Given the description of an element on the screen output the (x, y) to click on. 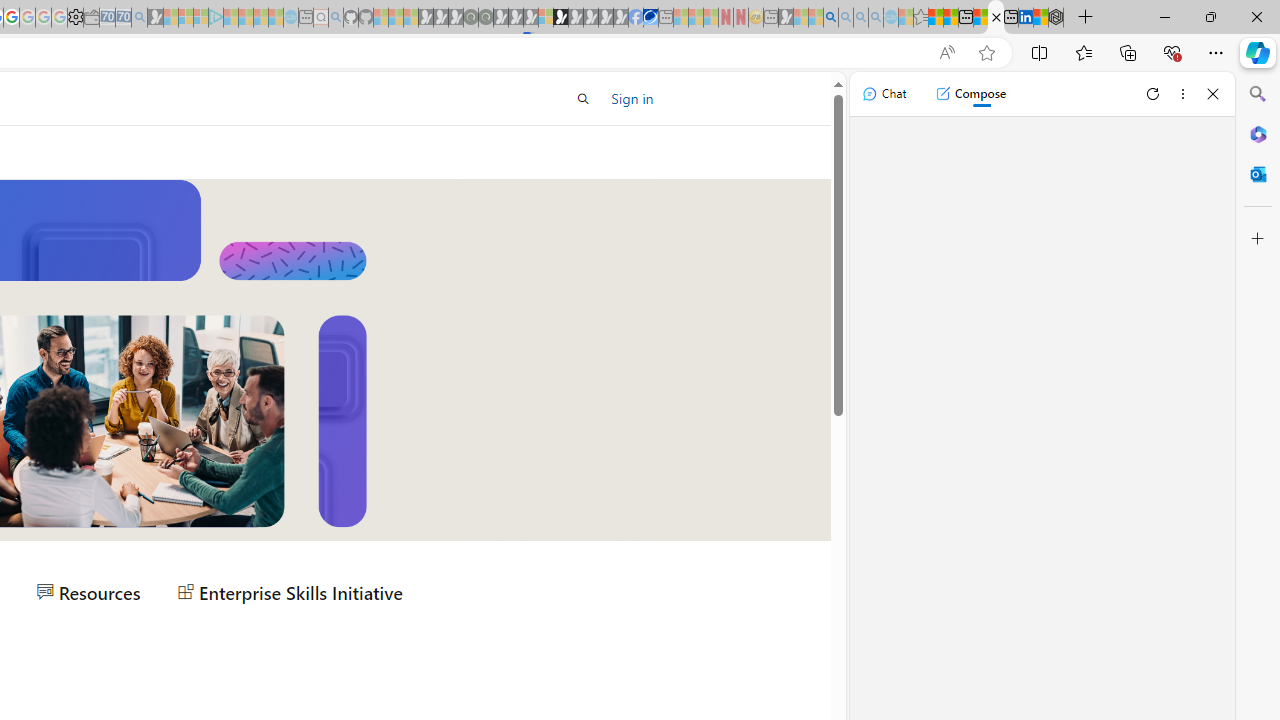
Future Focus Report 2024 - Sleeping (485, 17)
Aberdeen, Hong Kong SAR weather forecast | Microsoft Weather (950, 17)
Open search (583, 97)
AQI & Health | AirNow.gov (650, 17)
